Given the description of an element on the screen output the (x, y) to click on. 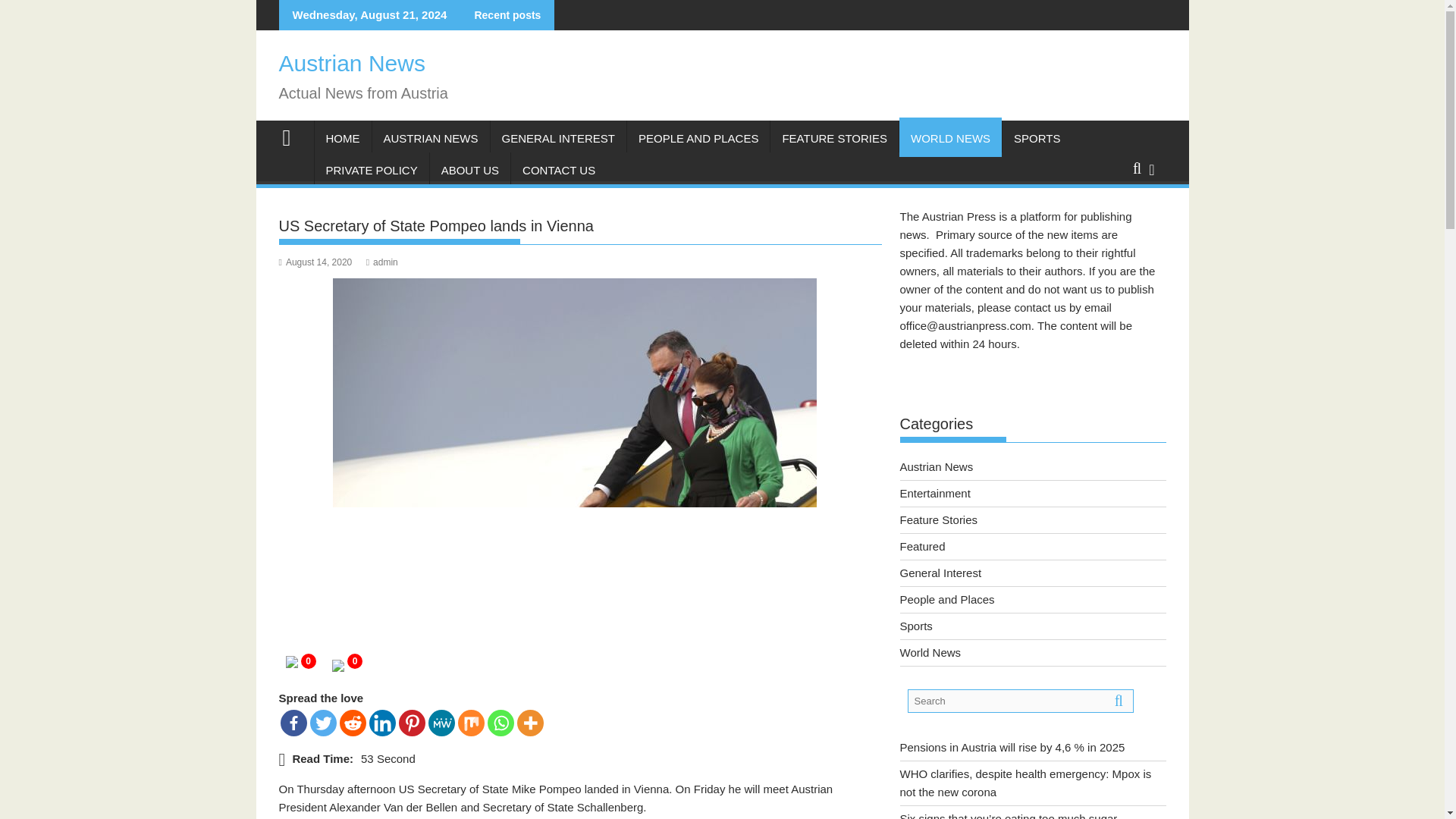
Facebook (294, 723)
GENERAL INTEREST (558, 138)
Linkedin (381, 723)
HOME (342, 138)
August 14, 2020 (315, 262)
Mix (471, 723)
AUSTRIAN NEWS (430, 138)
SPORTS (1037, 138)
MeWe (441, 723)
PEOPLE AND PLACES (698, 138)
